Given the description of an element on the screen output the (x, y) to click on. 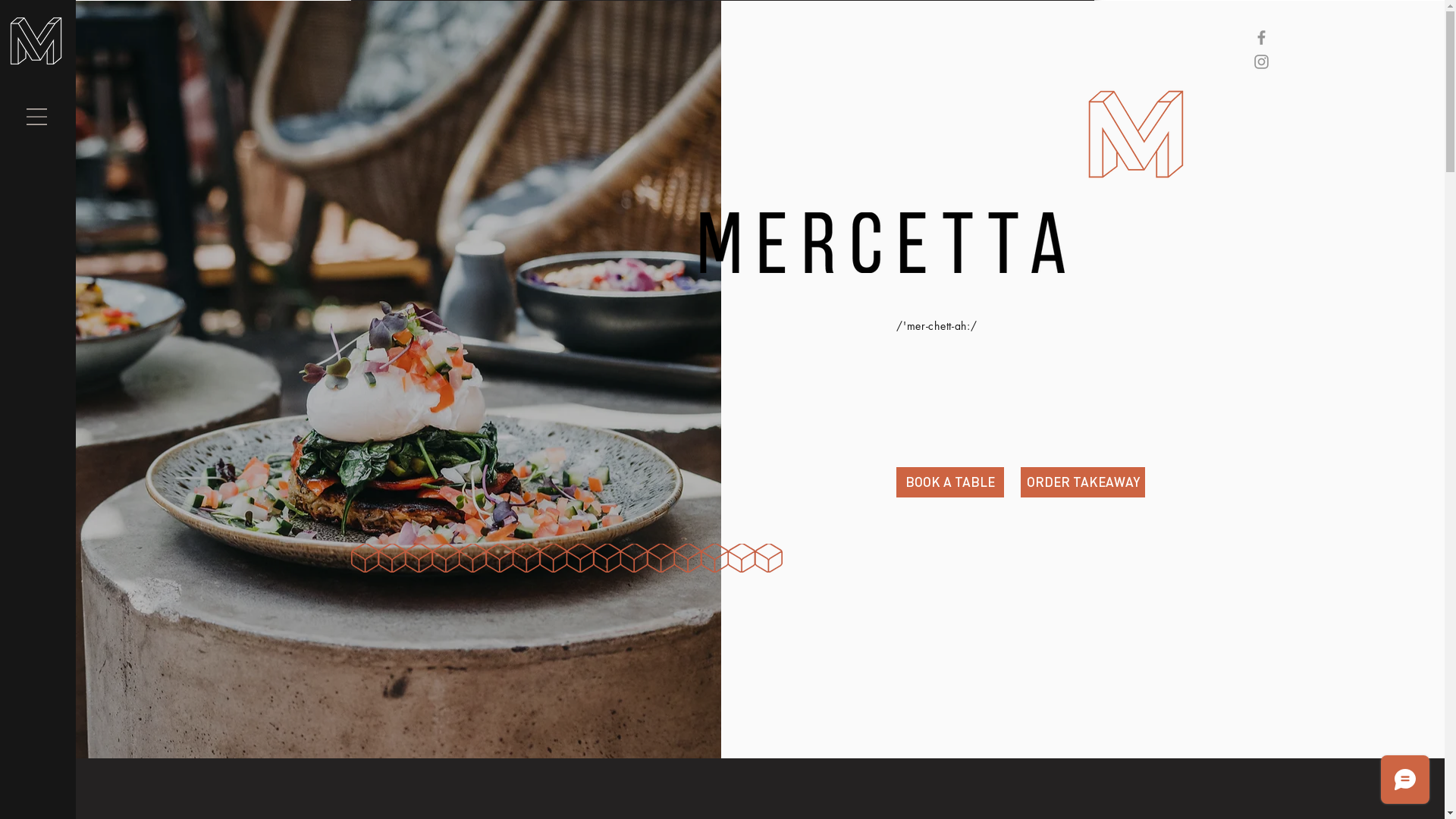
BOOK A TABLE Element type: text (950, 482)
ORDER TAKEAWAY Element type: text (1082, 482)
